Given the description of an element on the screen output the (x, y) to click on. 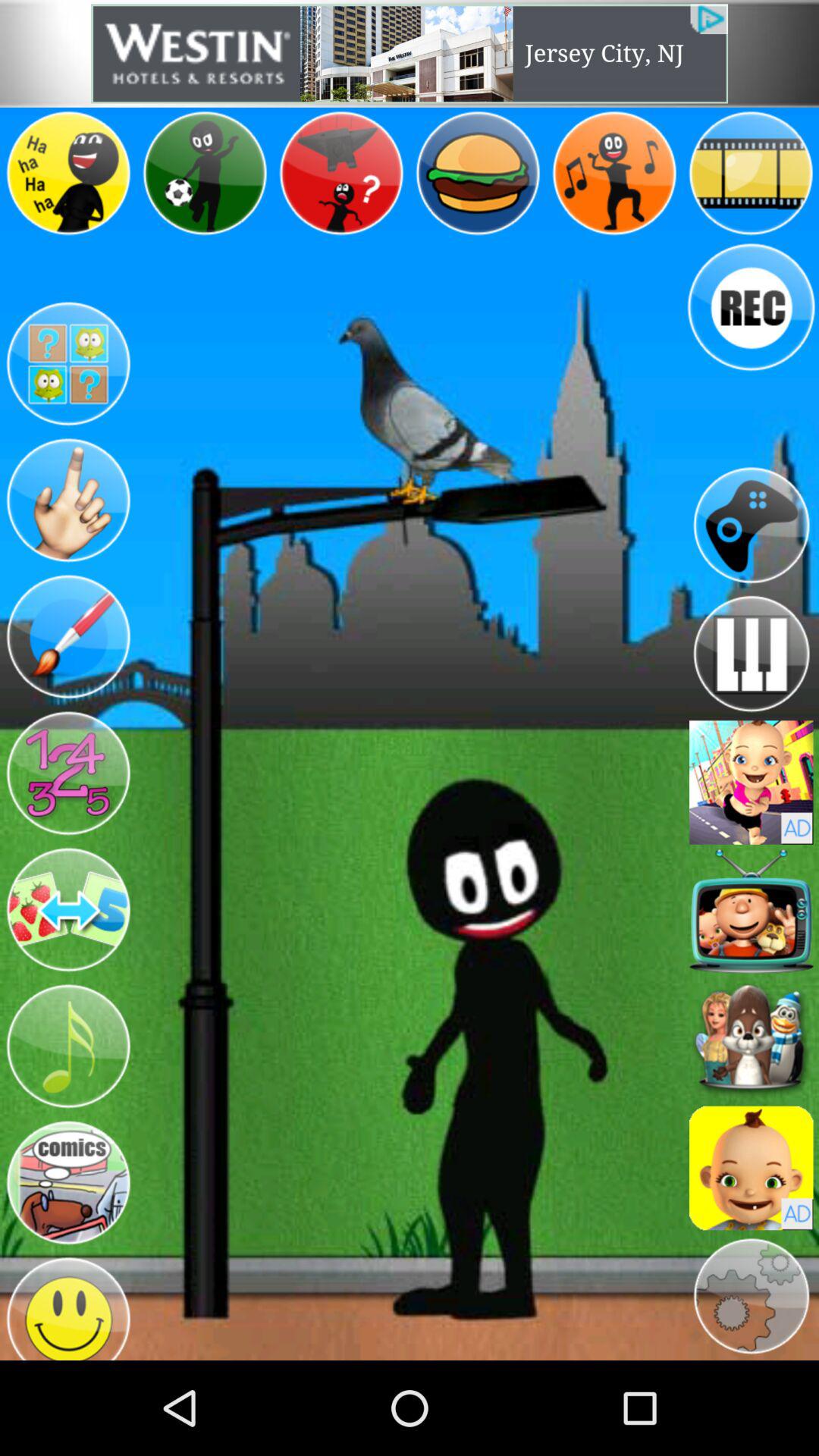
advertisement (409, 53)
